Given the description of an element on the screen output the (x, y) to click on. 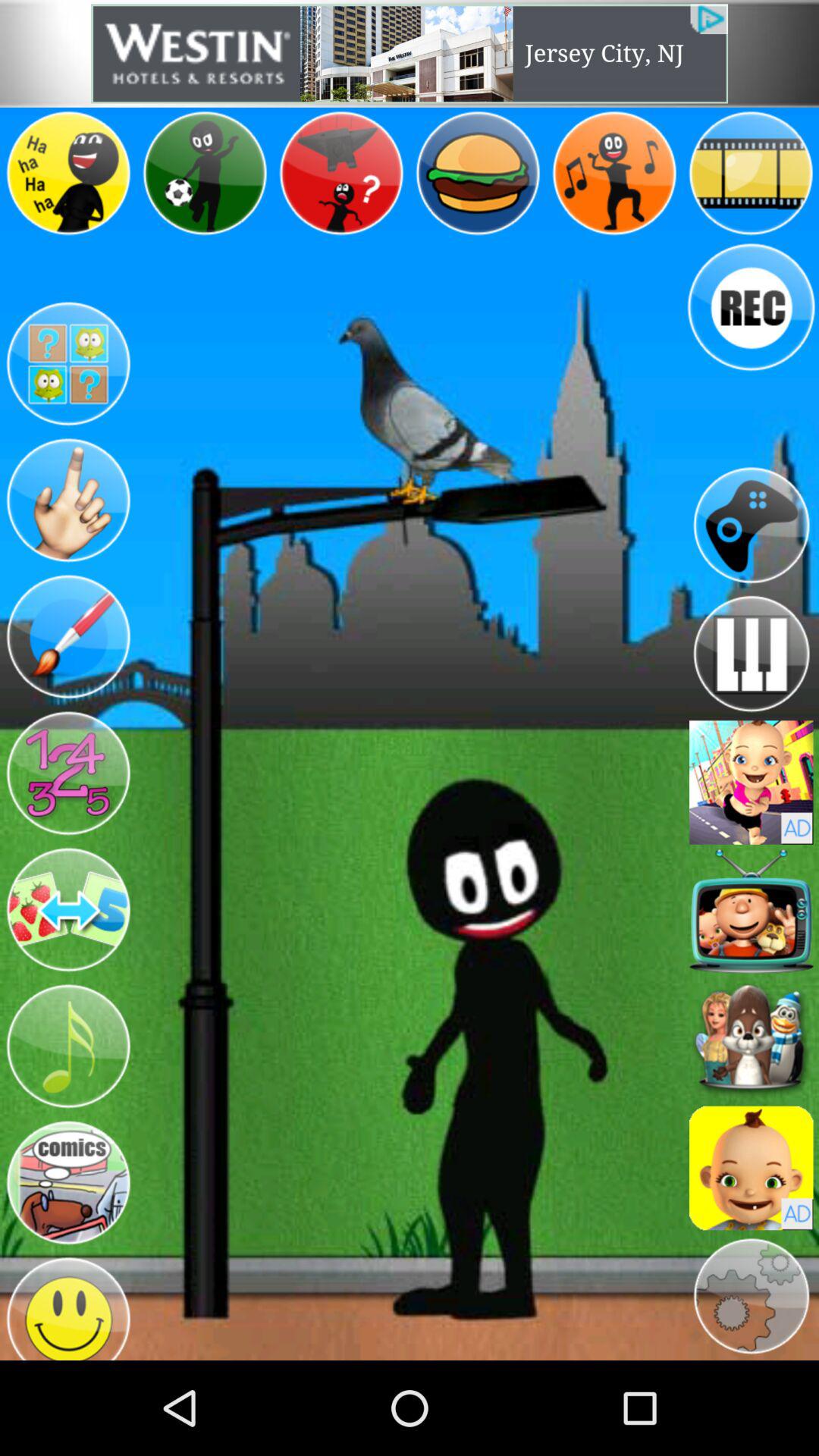
advertisement (409, 53)
